Given the description of an element on the screen output the (x, y) to click on. 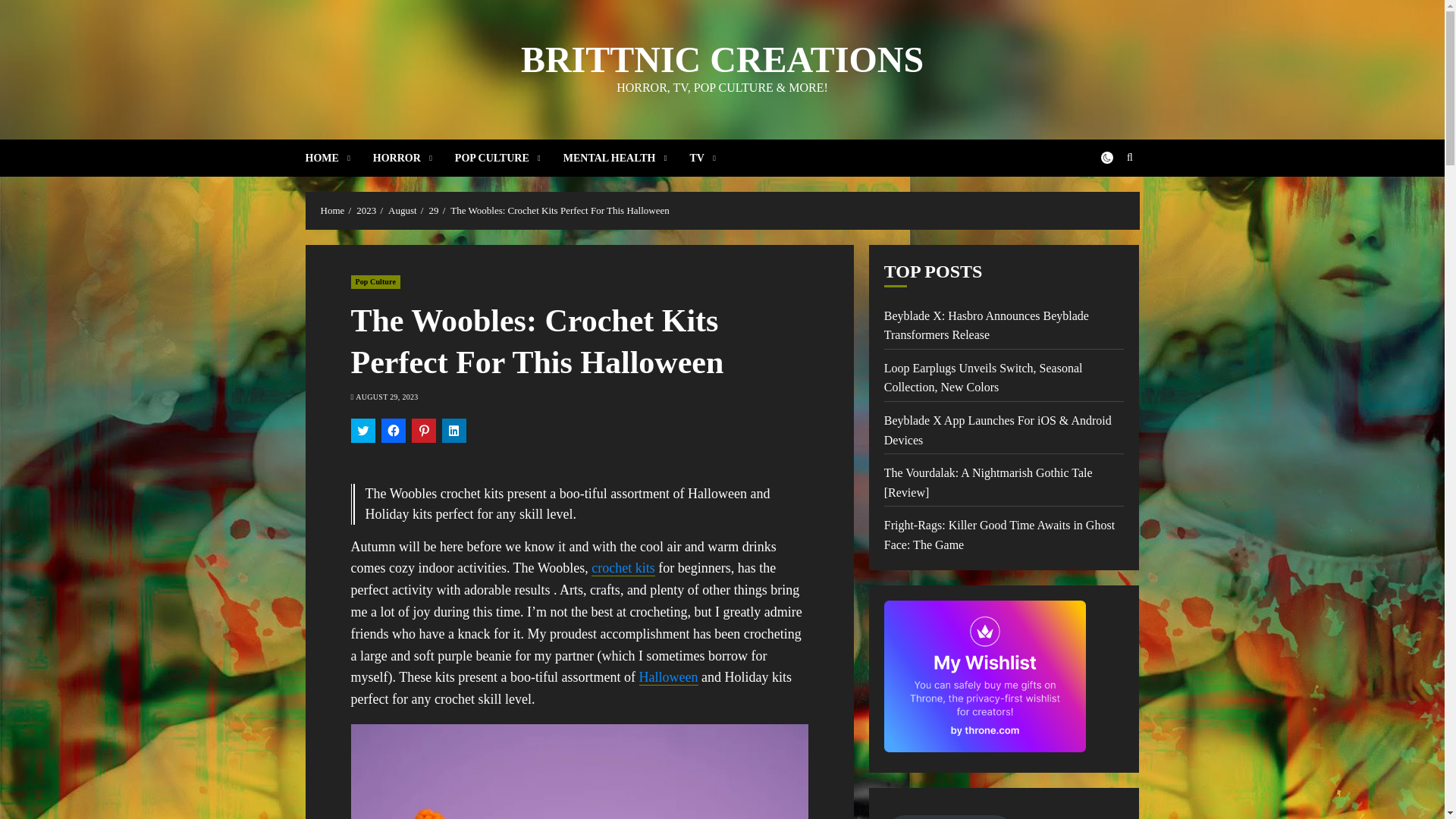
Click to share on LinkedIn (453, 430)
BRITTNIC CREATIONS (722, 59)
Click to share on Facebook (392, 430)
Click to share on Twitter (362, 430)
MENTAL HEALTH (626, 157)
POP CULTURE (508, 157)
Search (1099, 203)
Click to share on Pinterest (422, 430)
The Woobles: Crochet Kits Perfect For This Halloween 1 (579, 771)
HORROR (413, 157)
HOME (338, 157)
